Given the description of an element on the screen output the (x, y) to click on. 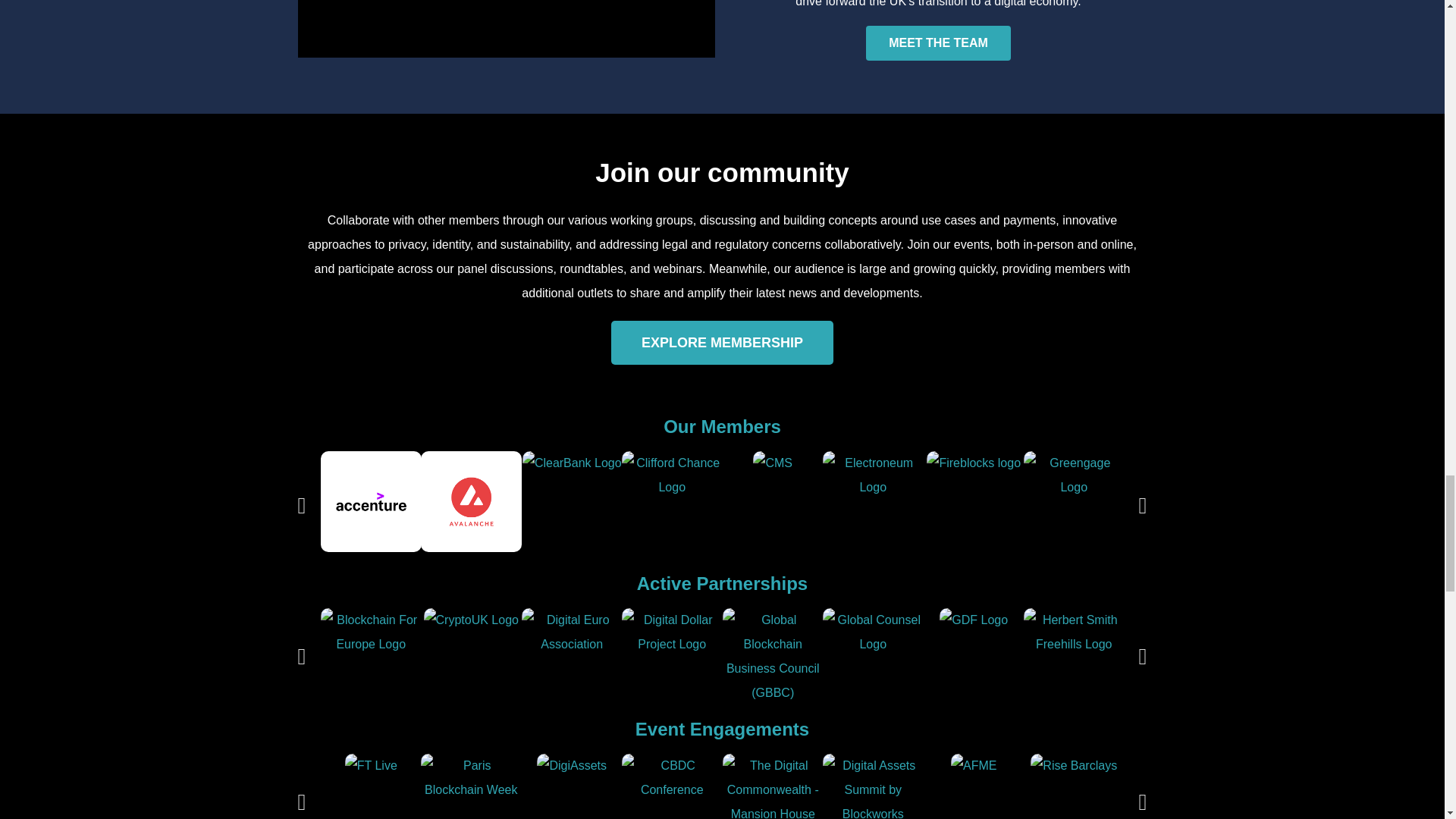
EXPLORE MEMBERSHIP (721, 342)
vimeo Video Player (505, 28)
MEET THE TEAM (938, 42)
